Given the description of an element on the screen output the (x, y) to click on. 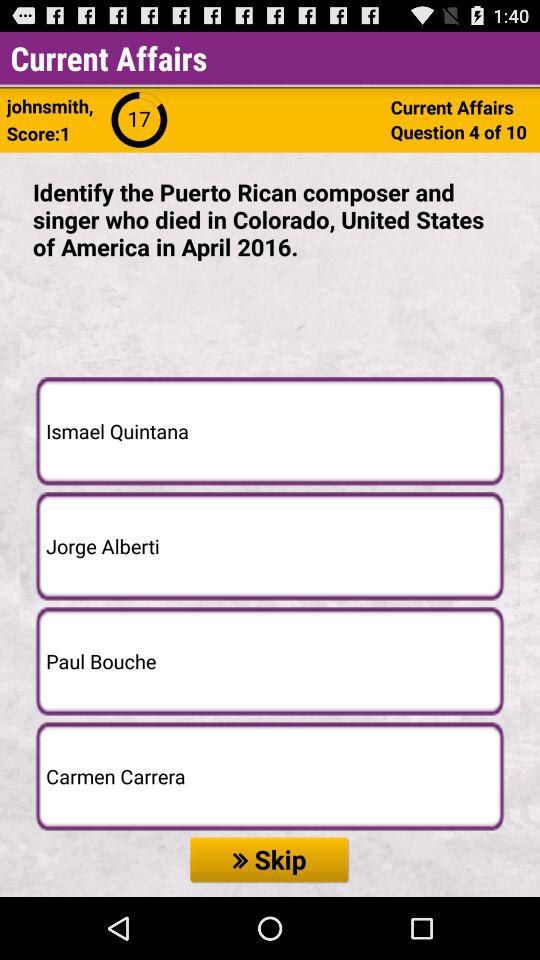
turn on item below jorge alberti item (270, 661)
